Given the description of an element on the screen output the (x, y) to click on. 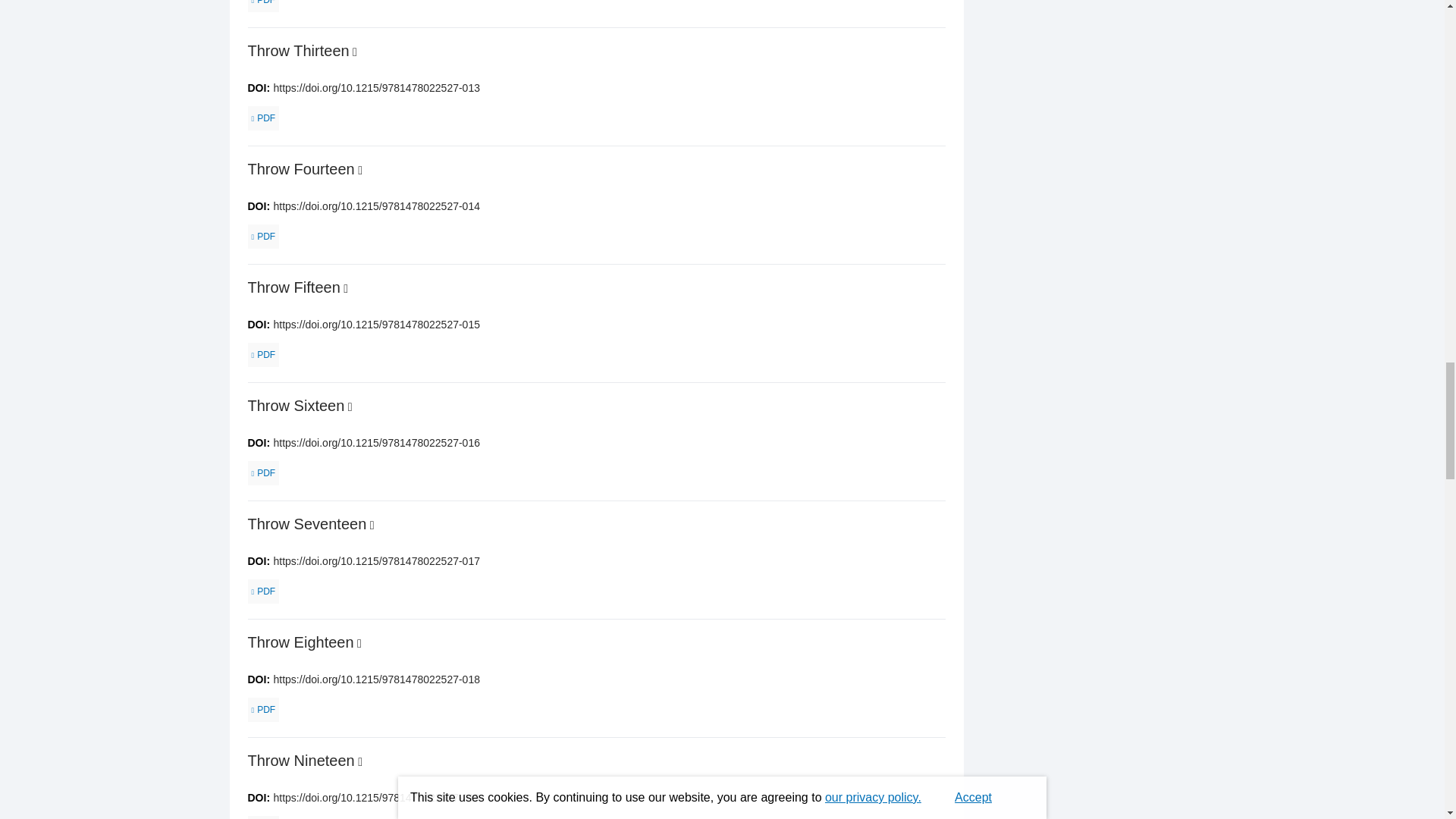
Available to Purchase (354, 51)
Available to Purchase (360, 169)
